Given the description of an element on the screen output the (x, y) to click on. 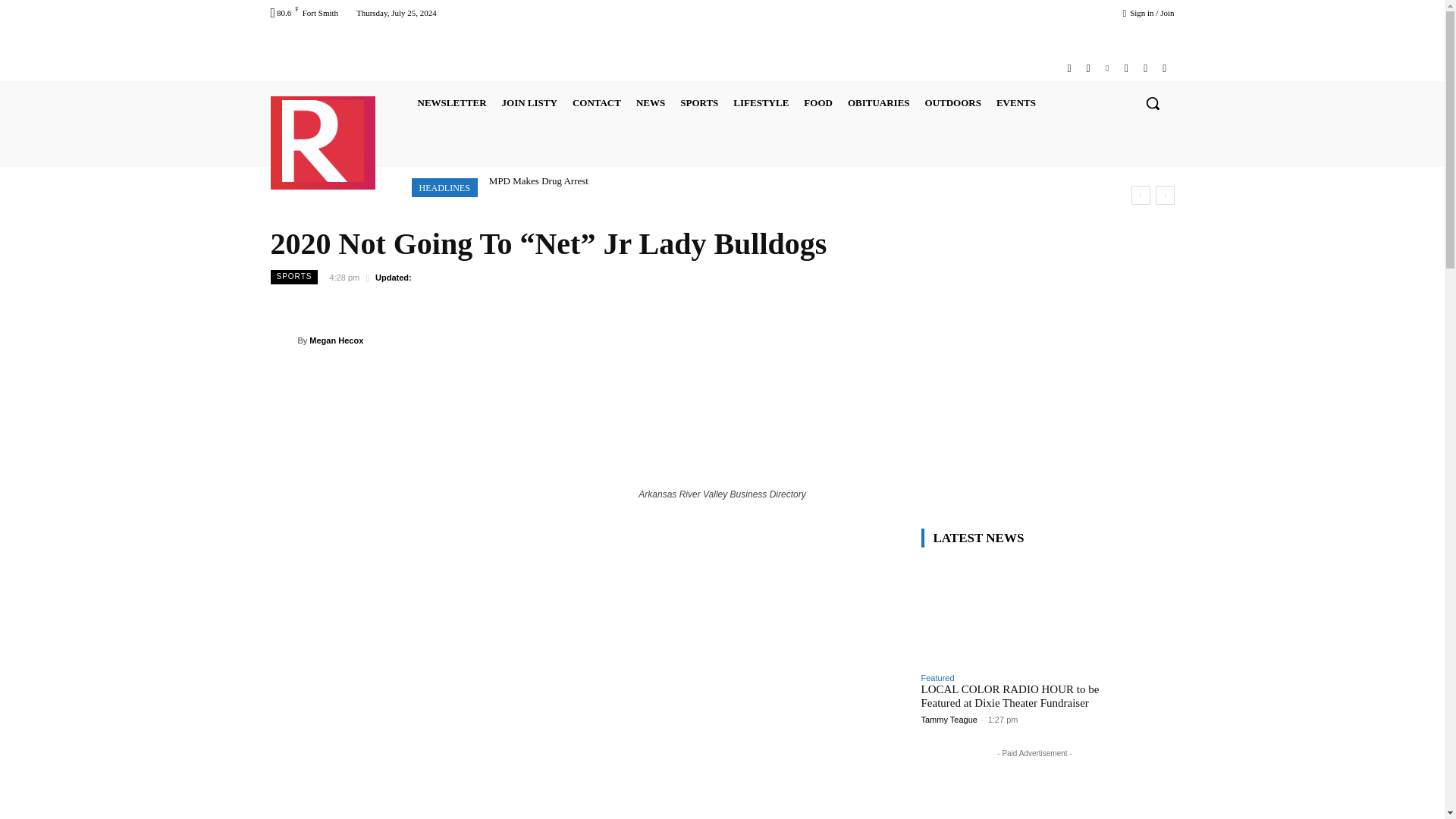
JOIN LISTY (529, 102)
Linkedin (1106, 67)
Instagram (1087, 67)
LIFESTYLE (760, 102)
SPORTS (698, 102)
NEWS (650, 102)
Facebook (1068, 67)
CONTACT (596, 102)
NEWSLETTER (451, 102)
